Given the description of an element on the screen output the (x, y) to click on. 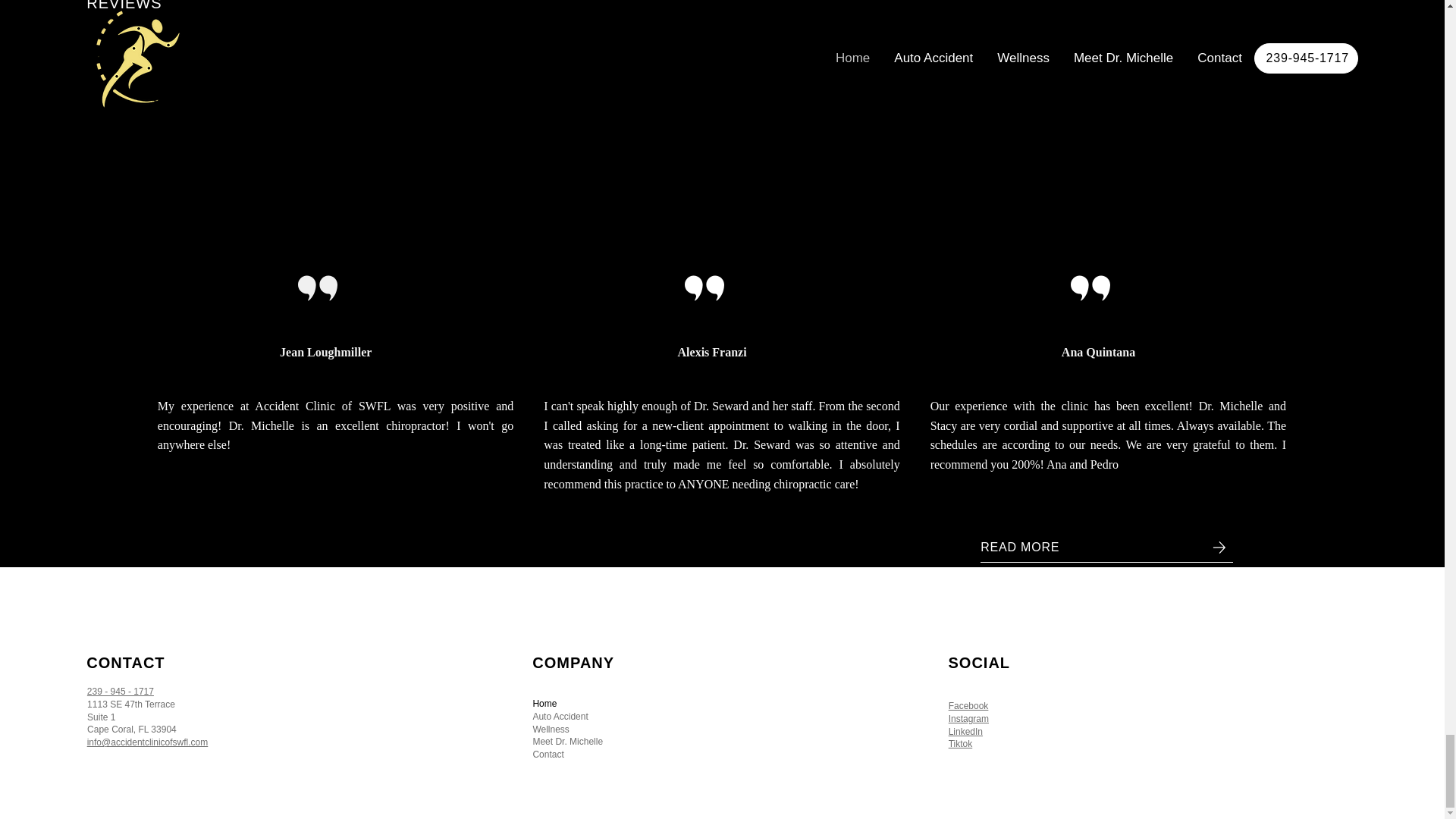
Meet Dr. Michelle (726, 741)
Instagram (968, 718)
Tiktok (960, 743)
READ MORE (1106, 547)
239 - 945 - 1717 (120, 691)
Wellness (726, 729)
Auto Accident (726, 716)
Home (726, 703)
Facebook (968, 706)
Contact (726, 754)
